Given the description of an element on the screen output the (x, y) to click on. 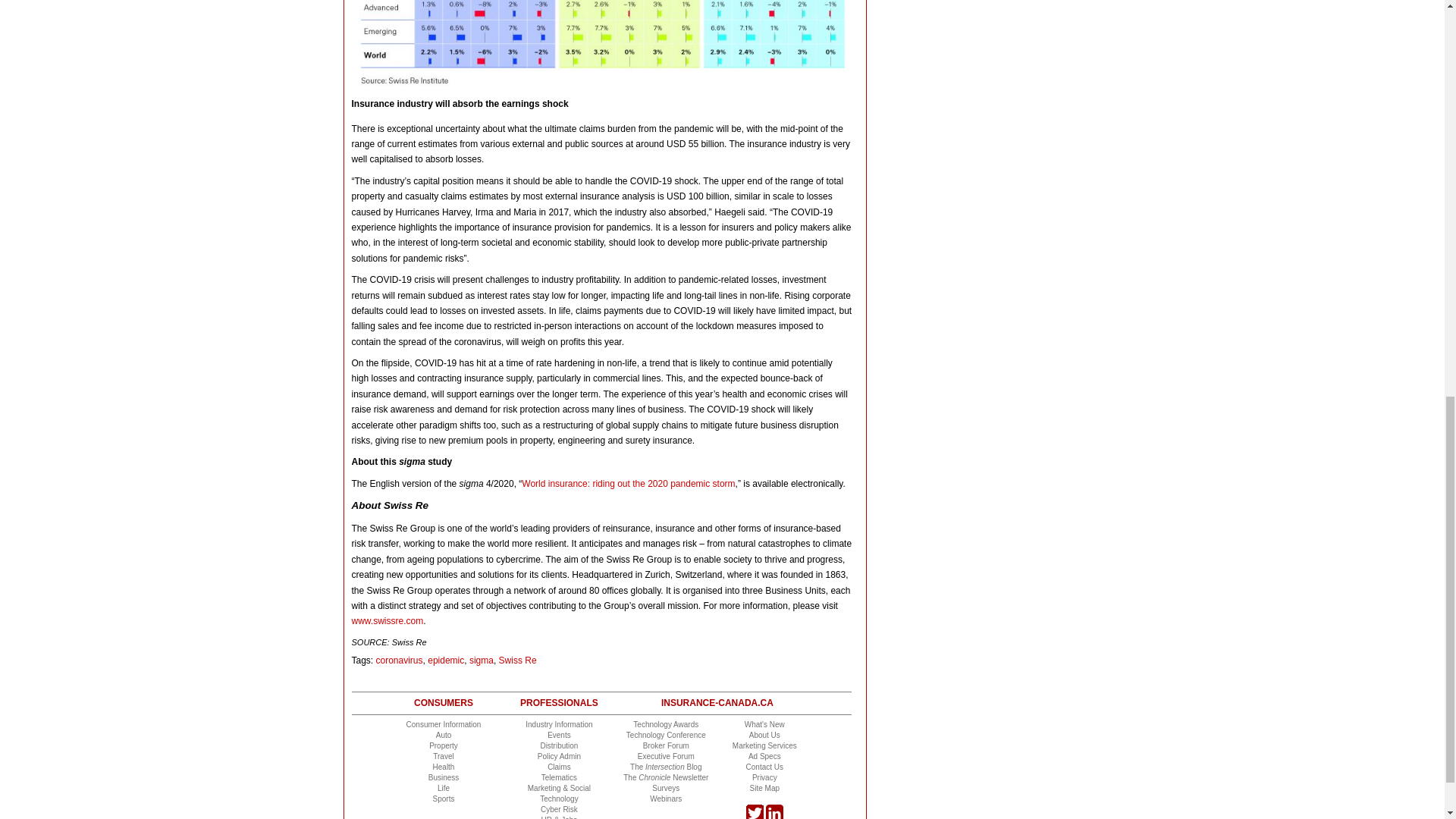
Cyber Risk (559, 809)
Insurance Policy Management and Administration (558, 756)
Technology in Insurance (559, 798)
Property Insurance News, Information and Providers (443, 746)
Insurance Industry Events (558, 735)
Sports Insurance News, Information and Providers (443, 798)
Life Insurance News, Information and Providers (443, 787)
Canadian Insurance Industry Information (558, 724)
Travel Insurance News, Information and Providers (442, 756)
Marketing in Insurance and Social Business (559, 787)
Insurance News and Information for Canadian Consumers (443, 724)
Health Insurance News, Information and Providers (443, 766)
Insurance Claims (558, 766)
Business Insurance News, Information and Providers (444, 777)
Auto Insurance News, Information and Providers (443, 735)
